Given the description of an element on the screen output the (x, y) to click on. 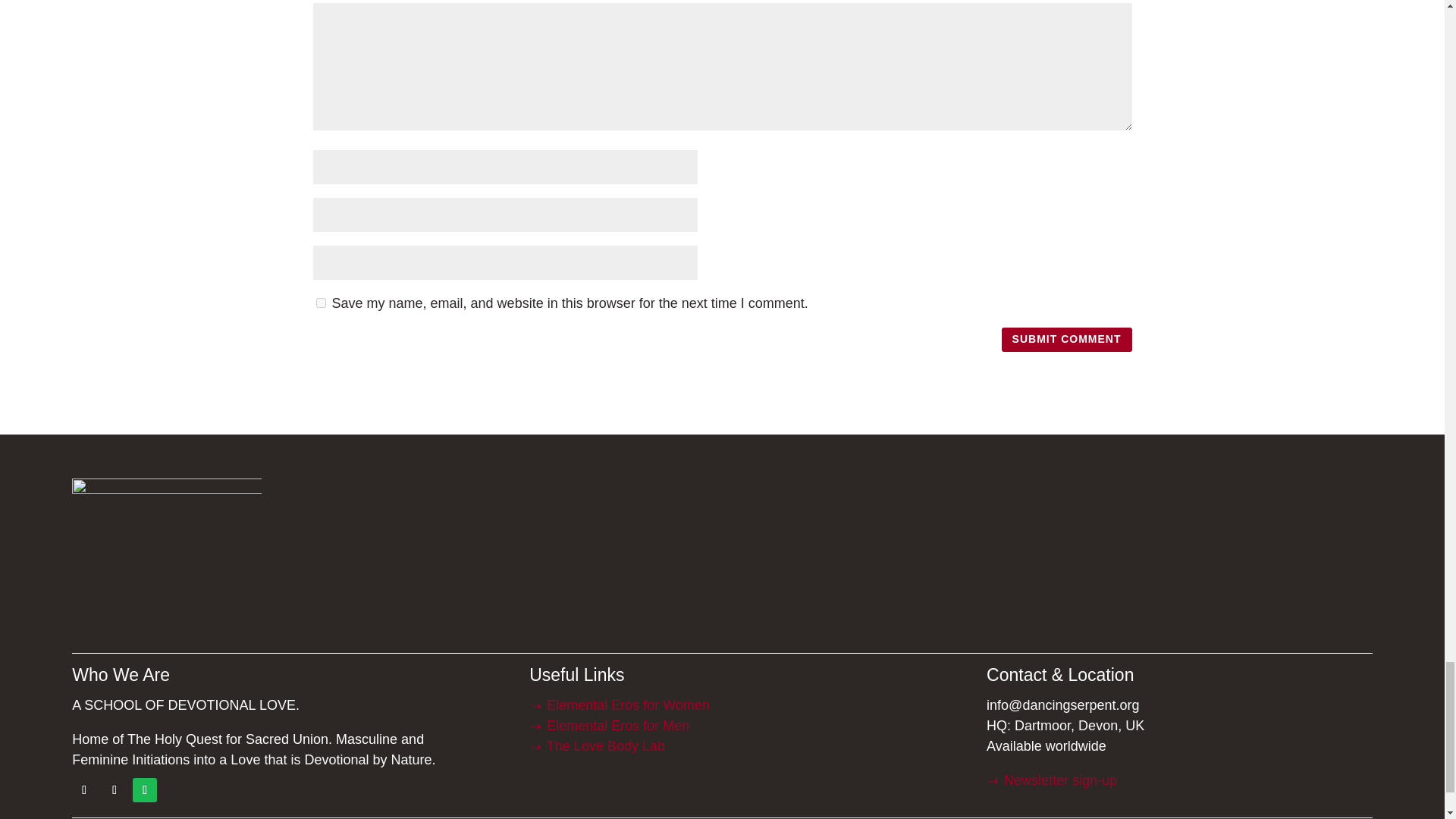
Follow on Facebook (83, 790)
logo-white-footer (166, 557)
yes (319, 302)
